Given the description of an element on the screen output the (x, y) to click on. 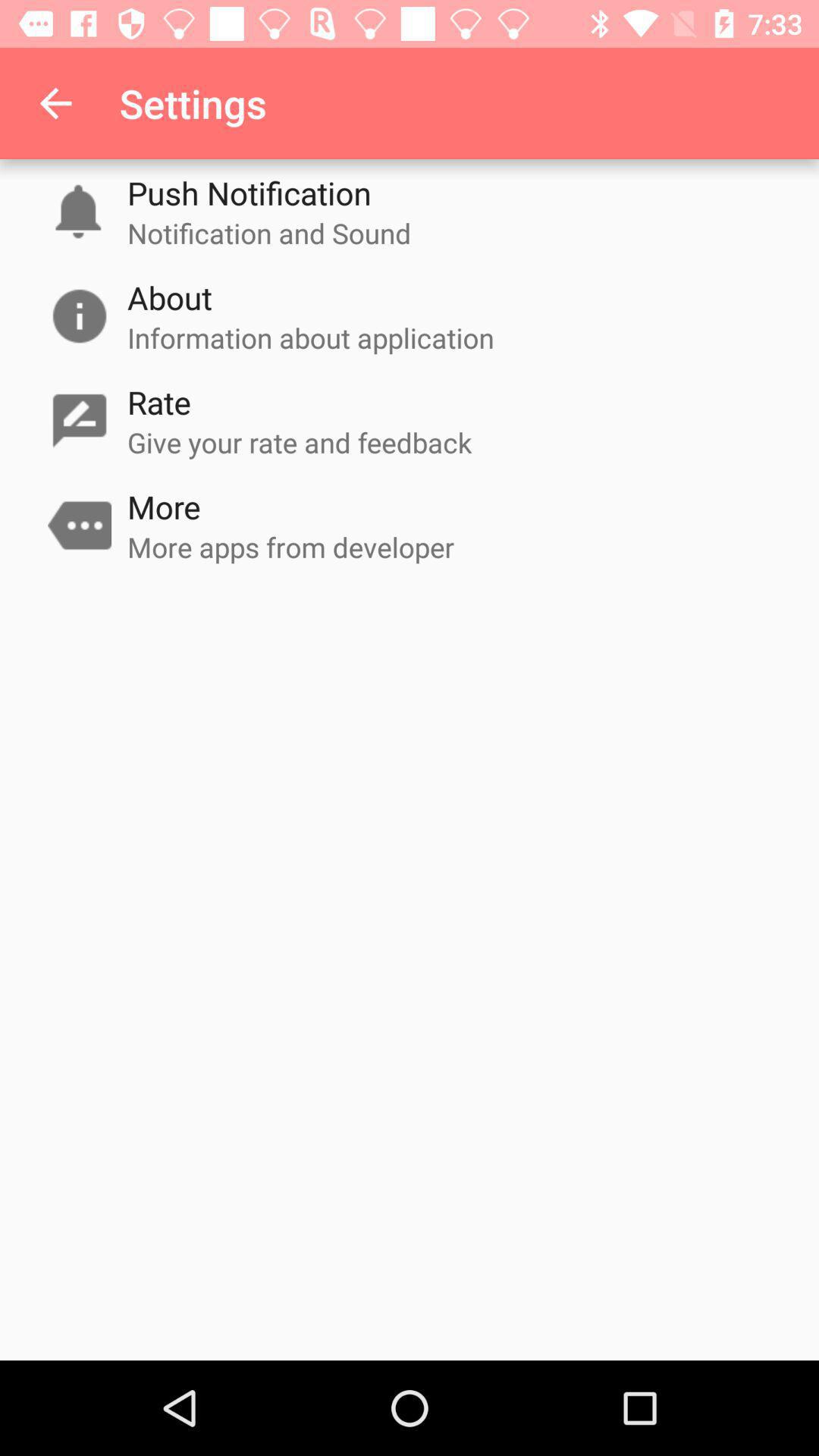
launch item below settings app (249, 192)
